Given the description of an element on the screen output the (x, y) to click on. 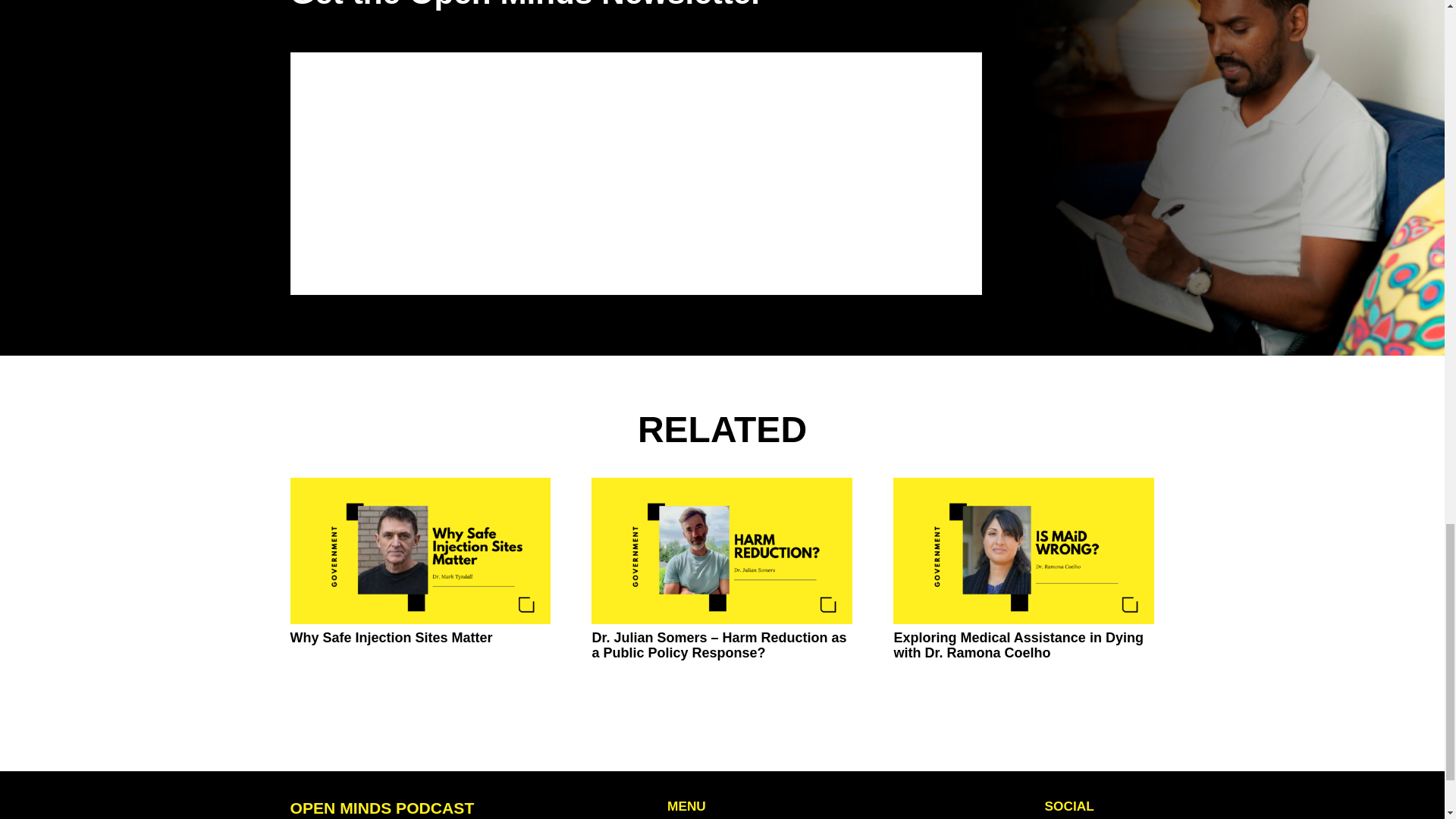
Exploring Medical Assistance in Dying with Dr. Ramona Coelho (1017, 644)
Why Safe Injection Sites Matter (390, 637)
